Given the description of an element on the screen output the (x, y) to click on. 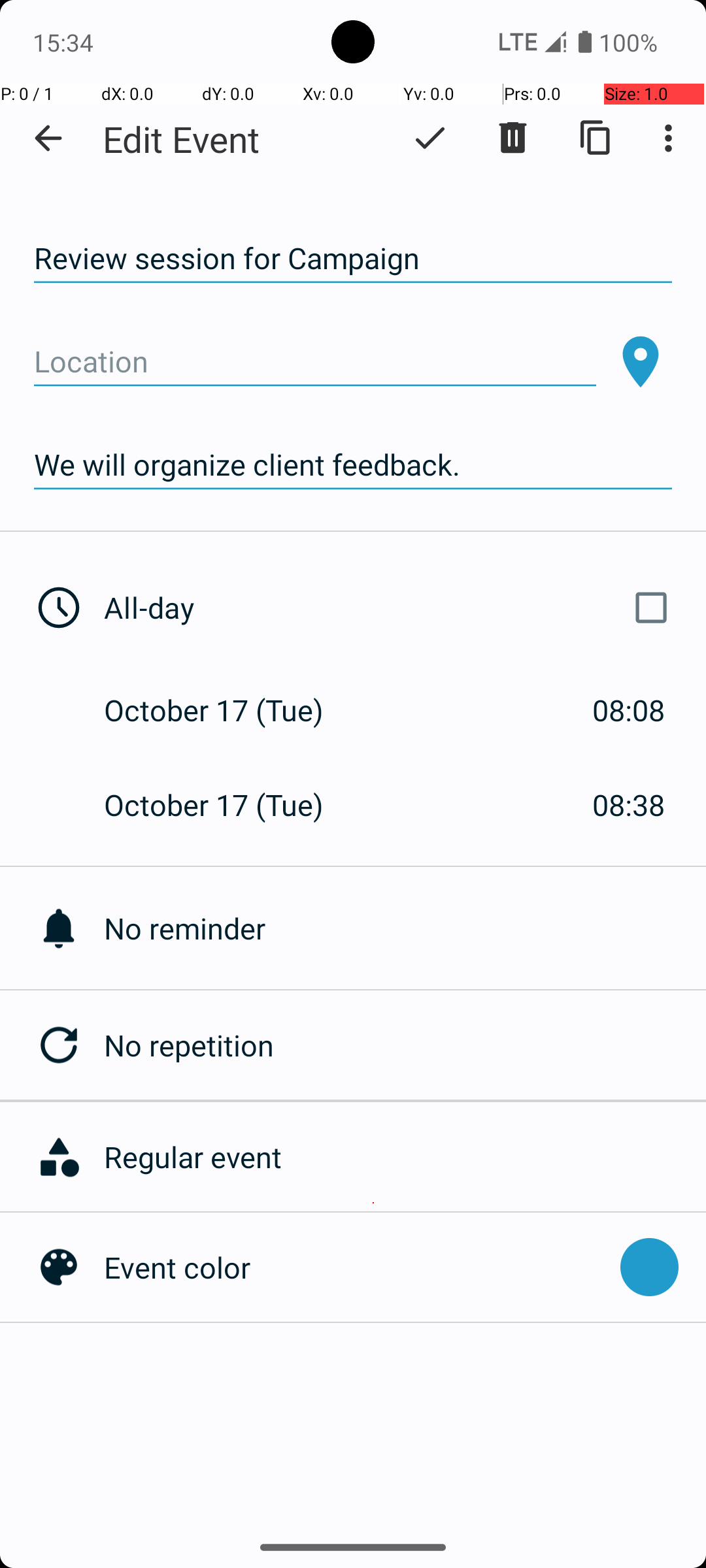
We will organize client feedback. Element type: android.widget.EditText (352, 465)
October 17 (Tue) Element type: android.widget.TextView (227, 709)
08:08 Element type: android.widget.TextView (628, 709)
08:38 Element type: android.widget.TextView (628, 804)
